Given the description of an element on the screen output the (x, y) to click on. 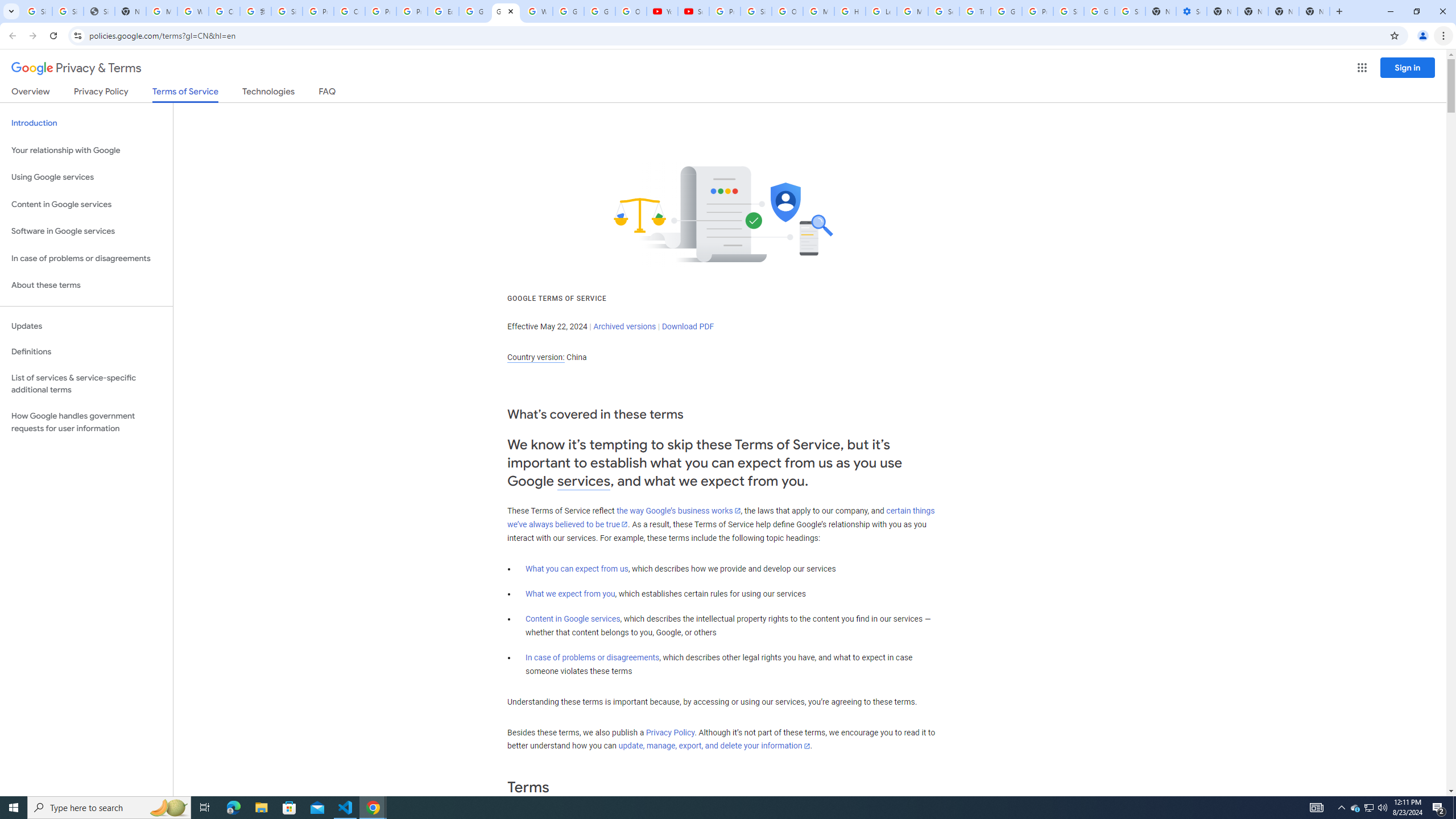
Definitions (86, 352)
Sign in - Google Accounts (1129, 11)
About these terms (86, 284)
Trusted Information and Content - Google Safety Center (974, 11)
Your relationship with Google (86, 150)
Google Slides: Sign-in (474, 11)
